Given the description of an element on the screen output the (x, y) to click on. 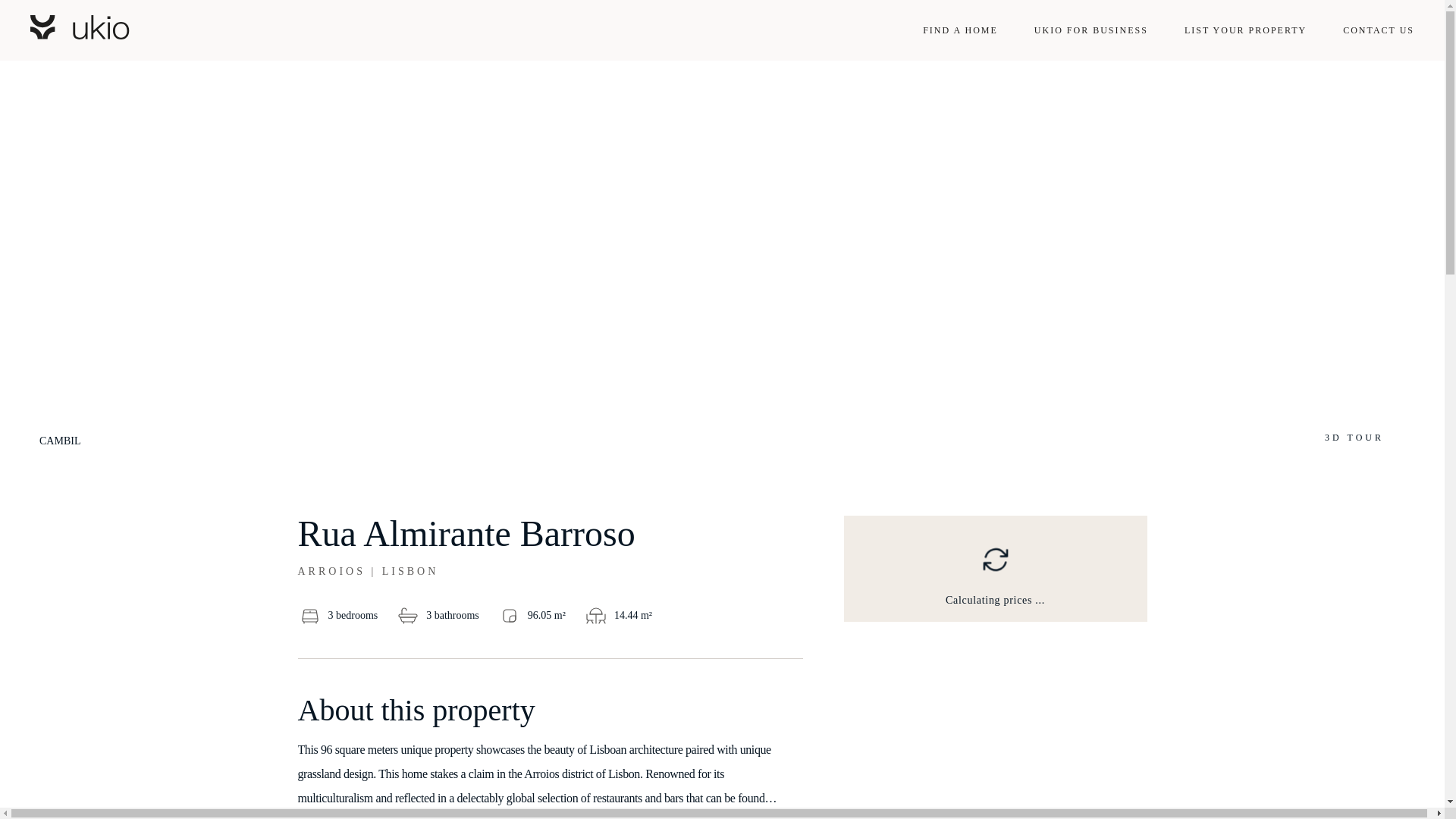
FIND A HOME (960, 30)
3D TOUR (1354, 437)
LIST YOUR PROPERTY (1245, 30)
CONTACT US (1377, 30)
UKIO FOR BUSINESS (1090, 30)
